Given the description of an element on the screen output the (x, y) to click on. 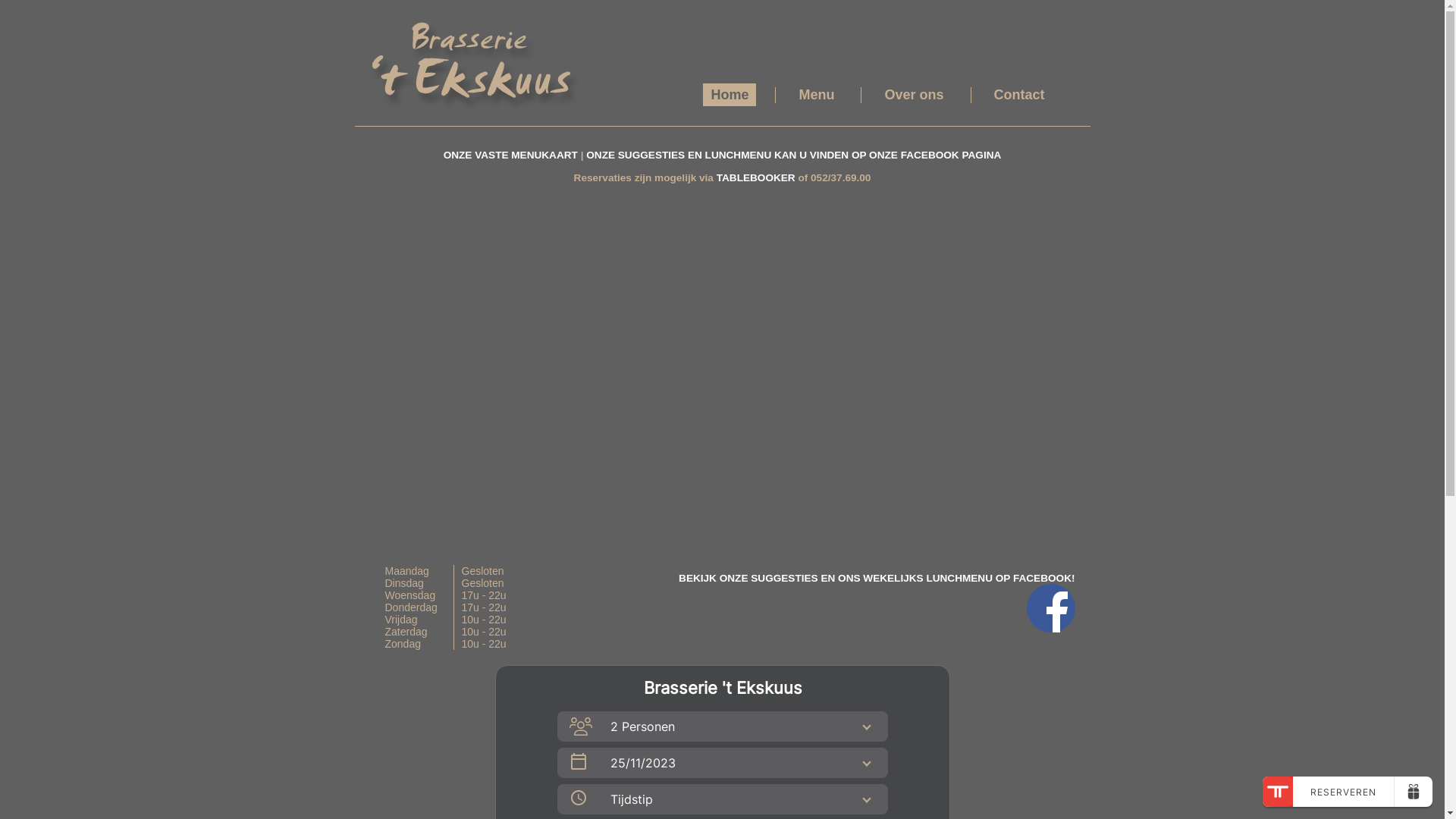
TABLEBOOKER Element type: text (755, 177)
Contact Element type: text (1018, 94)
Brasserie 't Ekskuus Element type: text (468, 62)
Over ons Element type: text (913, 94)
Menu Element type: text (815, 94)
Home Element type: text (729, 94)
ONZE VASTE MENUKAART Element type: text (511, 154)
